Given the description of an element on the screen output the (x, y) to click on. 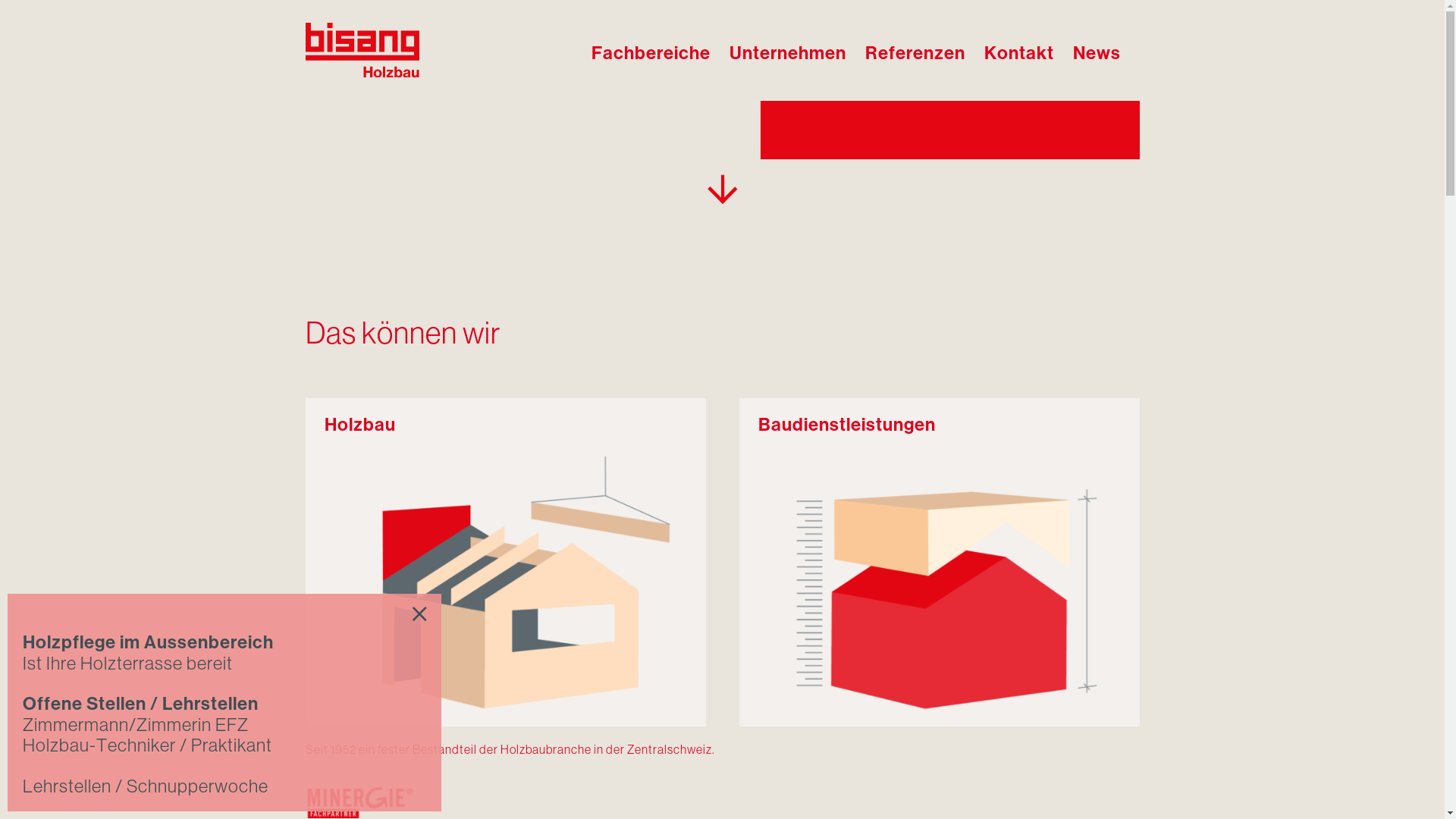
Kontakt Element type: text (1019, 50)
Referenzen Element type: text (914, 50)
Ist Ihre Holzterrasse bereit Element type: text (127, 662)
Holzbau-Techniker / Praktikant Element type: text (147, 744)
Zimmermann/Zimmerin EFZ Element type: text (135, 724)
News Element type: text (1096, 50)
Lehrstellen / Schnupperwoche  Element type: text (147, 785)
